Given the description of an element on the screen output the (x, y) to click on. 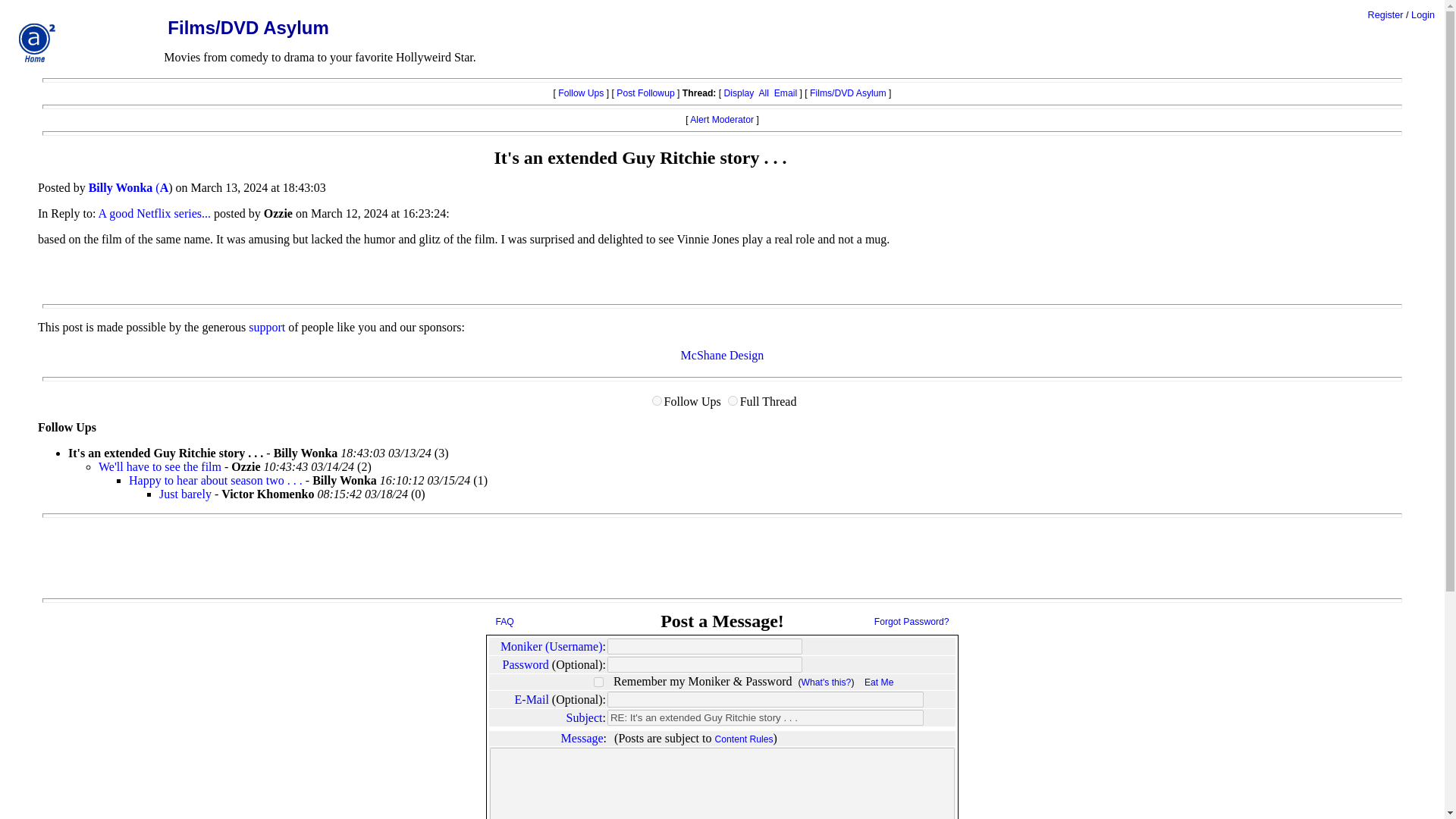
E-Mail (531, 698)
Eat Me (878, 682)
Alert Moderator (722, 119)
Register (1385, 14)
support (266, 327)
full (733, 400)
Post Followup (644, 92)
Just barely (184, 493)
Display (738, 92)
Follow Ups (580, 92)
Password (525, 664)
Login (1422, 14)
Forgot Password? (912, 621)
We'll have to see the film (160, 466)
RE: It's an extended Guy Ritchie story . . . (765, 717)
